Given the description of an element on the screen output the (x, y) to click on. 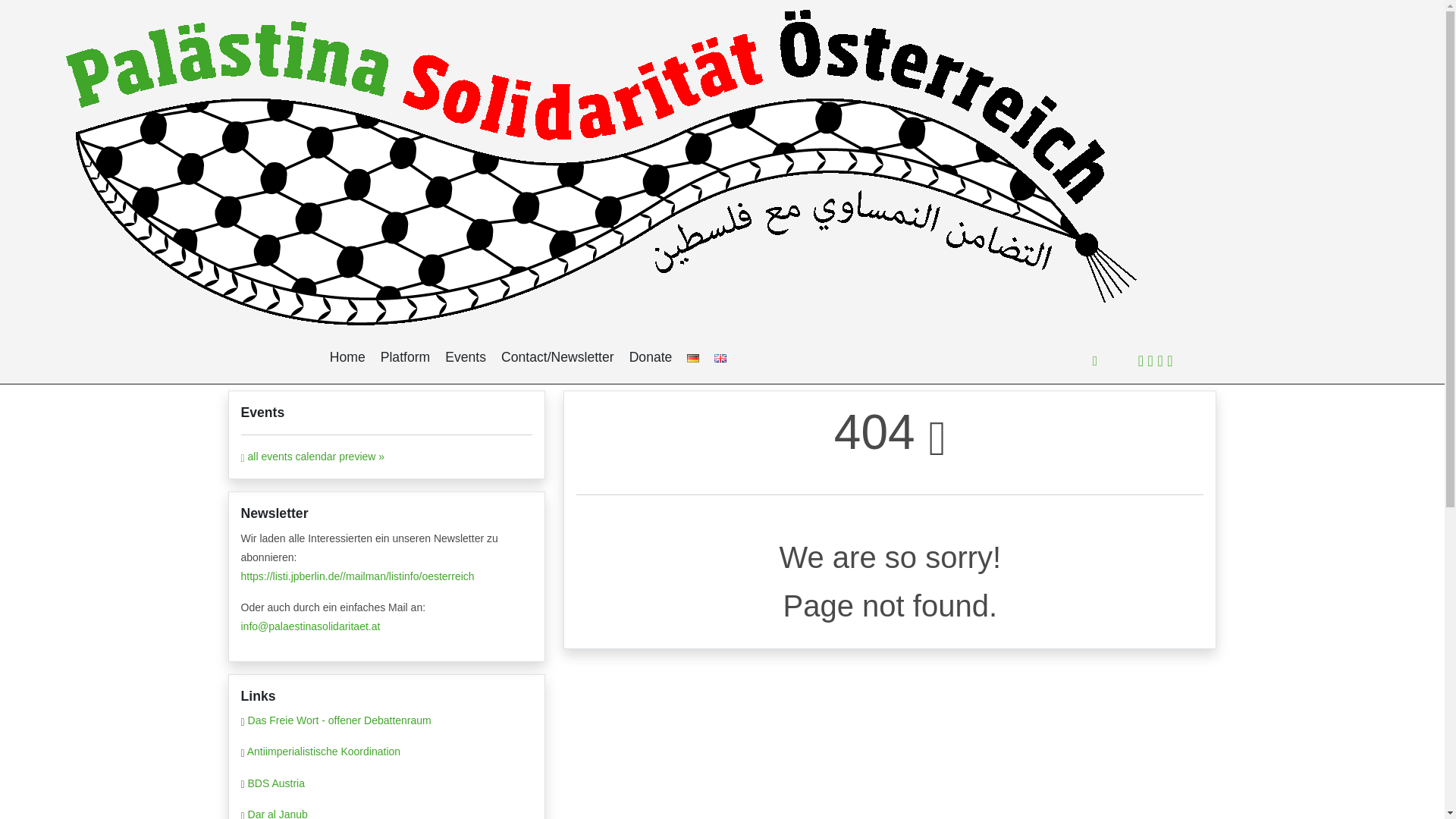
Home (347, 356)
Antiimperialistische Koordination (323, 751)
Donate (650, 356)
BDS Austria (275, 783)
Events (465, 356)
Platform (405, 356)
Dar al Janub (277, 813)
Das Freie Wort - offener Debattenraum (338, 720)
